Given the description of an element on the screen output the (x, y) to click on. 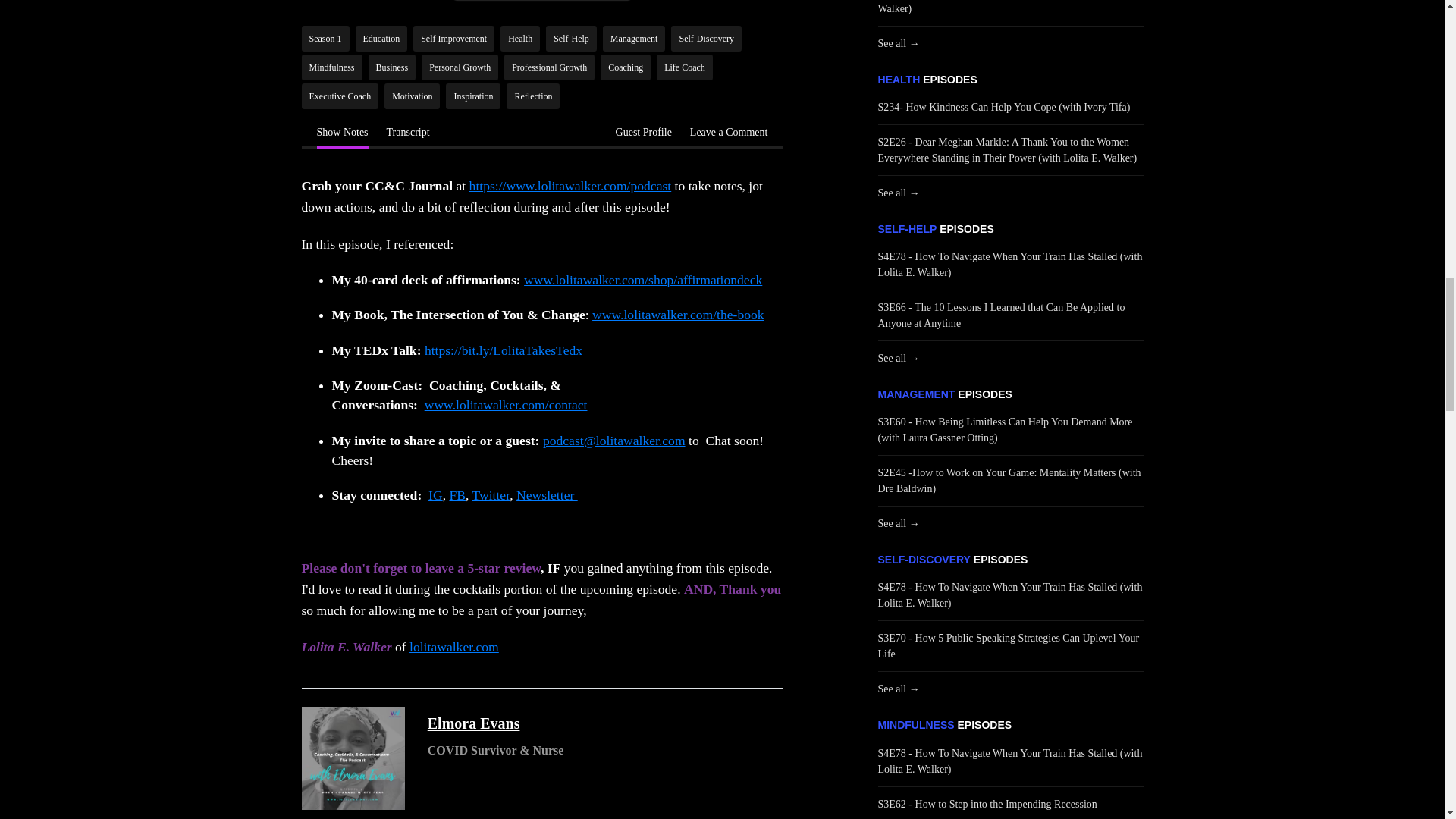
Elmora Evans Profile Photo (352, 757)
